Given the description of an element on the screen output the (x, y) to click on. 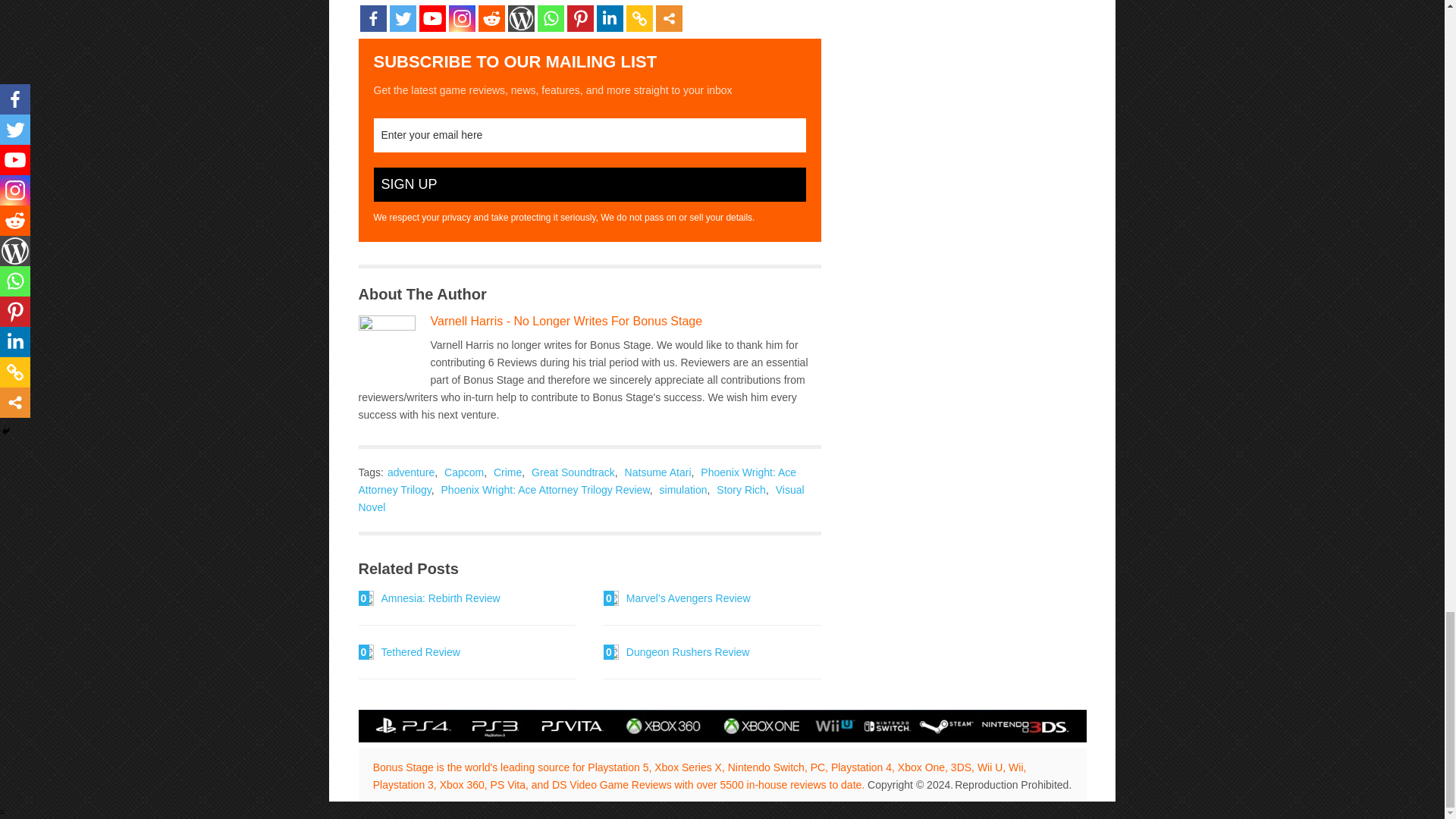
Sign Up (588, 184)
